Given the description of an element on the screen output the (x, y) to click on. 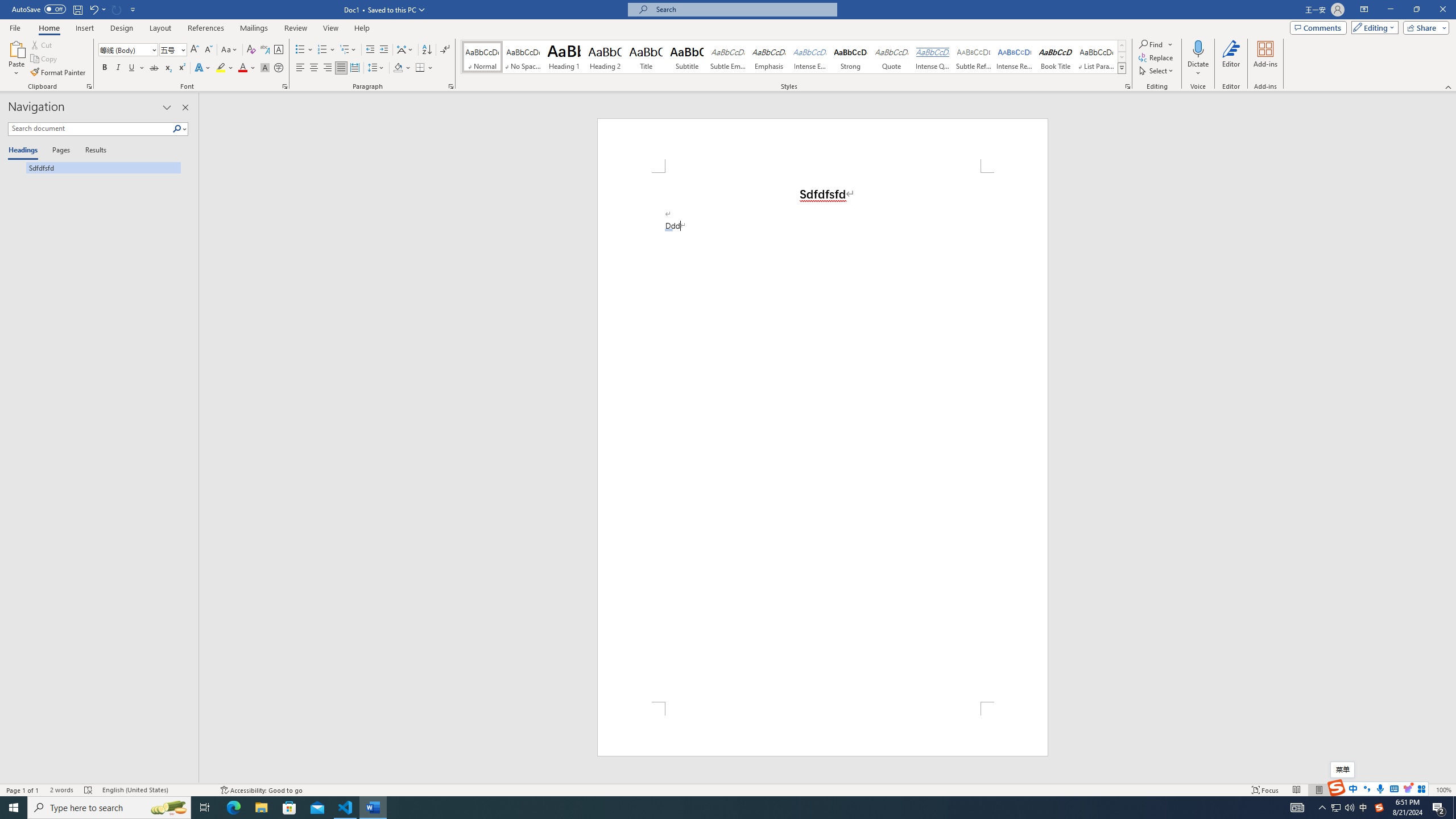
Zoom 100% (1443, 790)
Undo AutoCorrect (96, 9)
Strong (849, 56)
Undo AutoCorrect (92, 9)
